Given the description of an element on the screen output the (x, y) to click on. 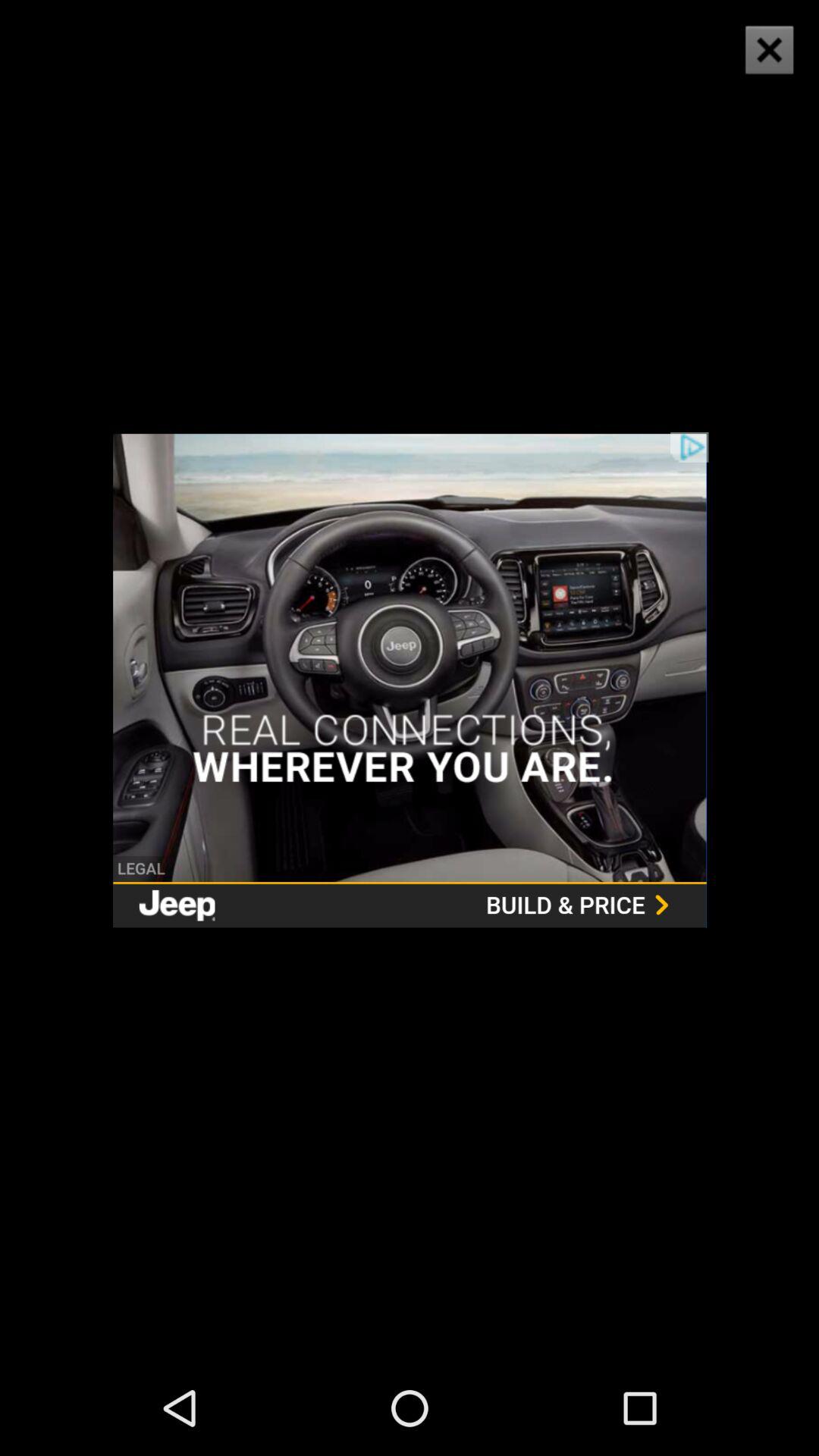
press the icon at the top right corner (769, 49)
